Given the description of an element on the screen output the (x, y) to click on. 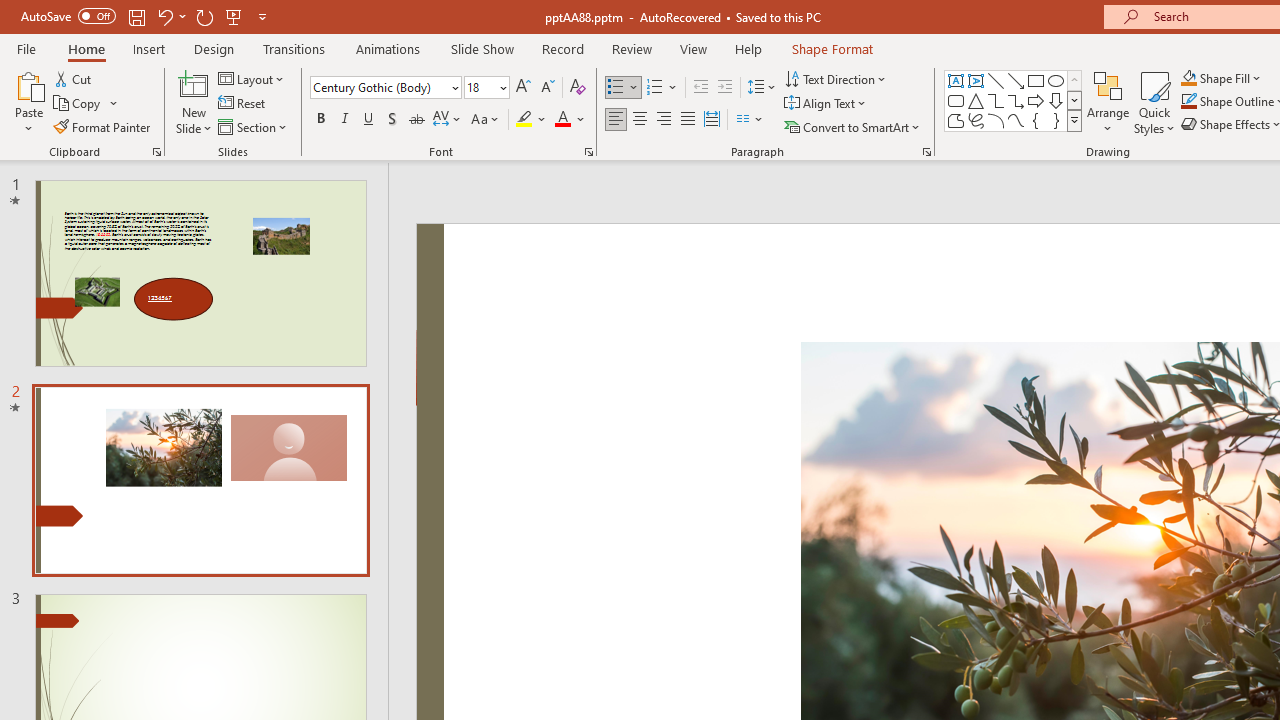
Right Brace (1055, 120)
Rectangle (1035, 80)
Font Size (480, 87)
Line (995, 80)
Strikethrough (416, 119)
Text Highlight Color Yellow (524, 119)
Isosceles Triangle (975, 100)
Distributed (712, 119)
Font (385, 87)
Clear Formatting (577, 87)
Open (502, 87)
Copy (78, 103)
